Given the description of an element on the screen output the (x, y) to click on. 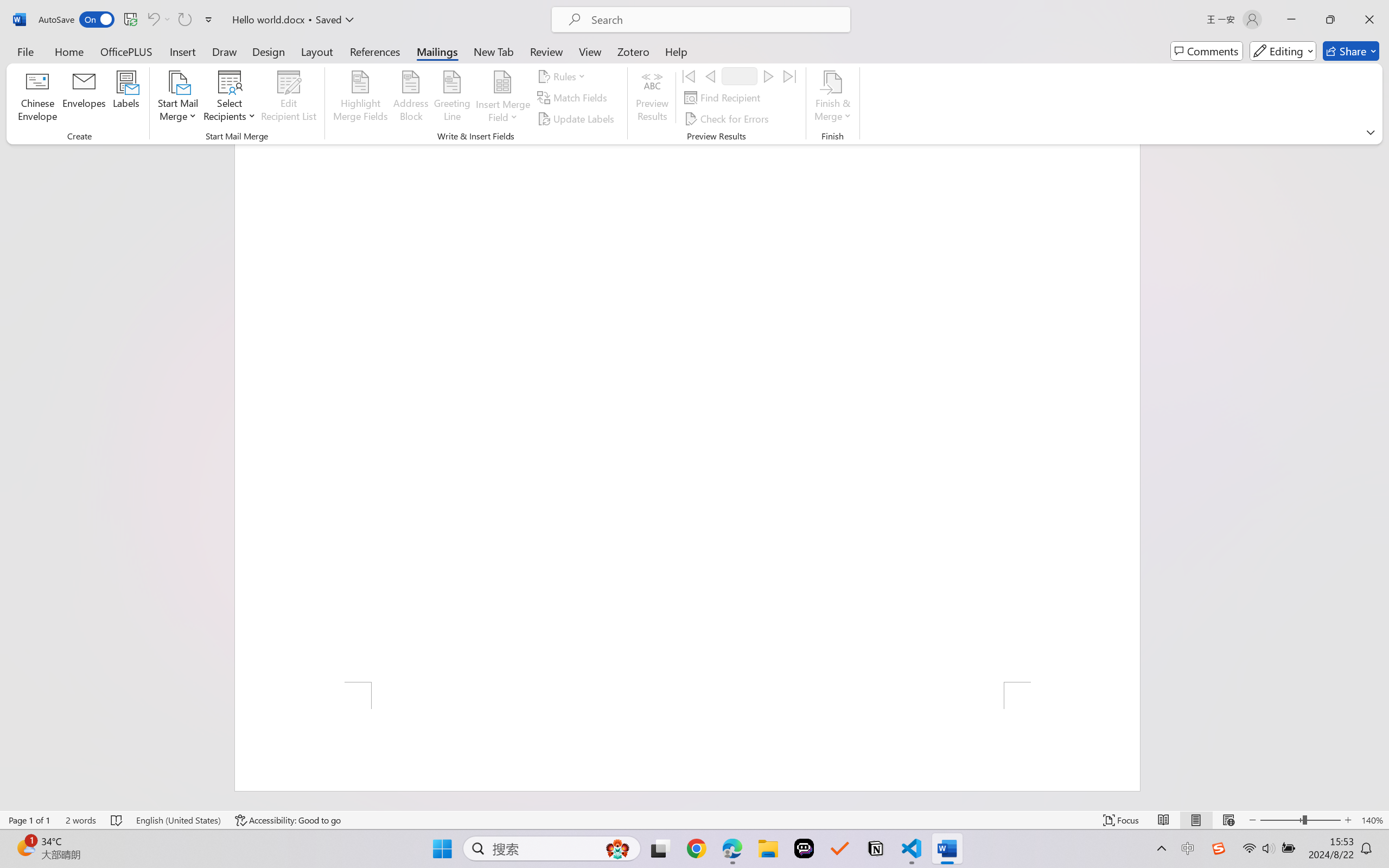
Zoom Out (1280, 819)
Language English (United States) (178, 819)
Minimize (1291, 19)
AutomationID: BadgeAnchorLargeTicker (24, 847)
Google Chrome (696, 848)
Customize Quick Access Toolbar (208, 19)
